Given the description of an element on the screen output the (x, y) to click on. 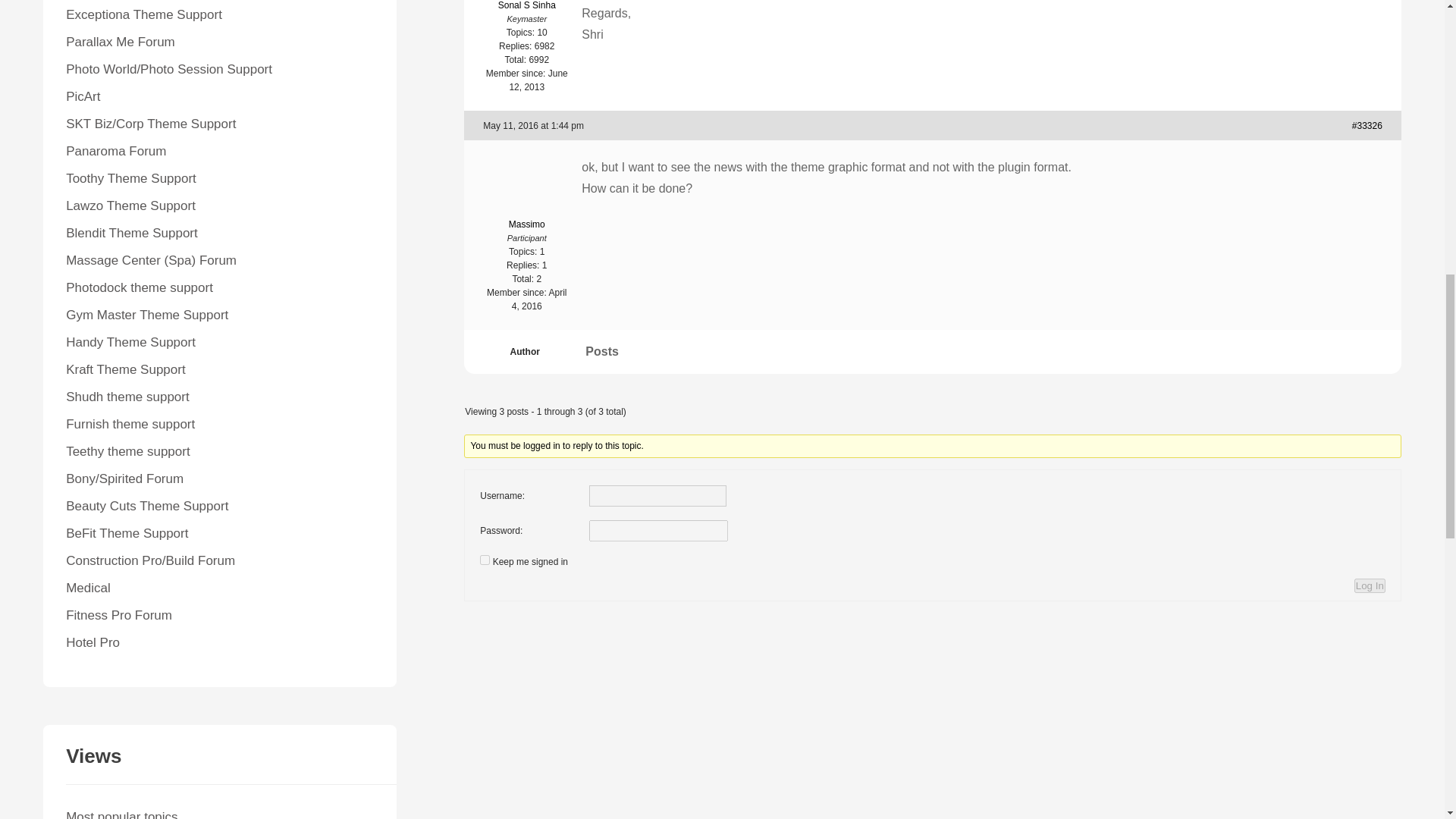
Handy Theme Support (130, 341)
View Massimo's profile (526, 203)
Lawzo Theme Support (130, 205)
PicArt (82, 96)
forever (484, 560)
View Sonal S Sinha's profile (526, 6)
Kraft Theme Support (125, 369)
Toothy Theme Support (130, 178)
Panaroma Forum (115, 151)
Shudh theme support (127, 396)
Gym Master Theme Support (146, 314)
Exceptiona Theme Support (143, 14)
Parallax Me Forum (119, 42)
Photodock theme support (138, 287)
Furnish theme support (130, 423)
